Given the description of an element on the screen output the (x, y) to click on. 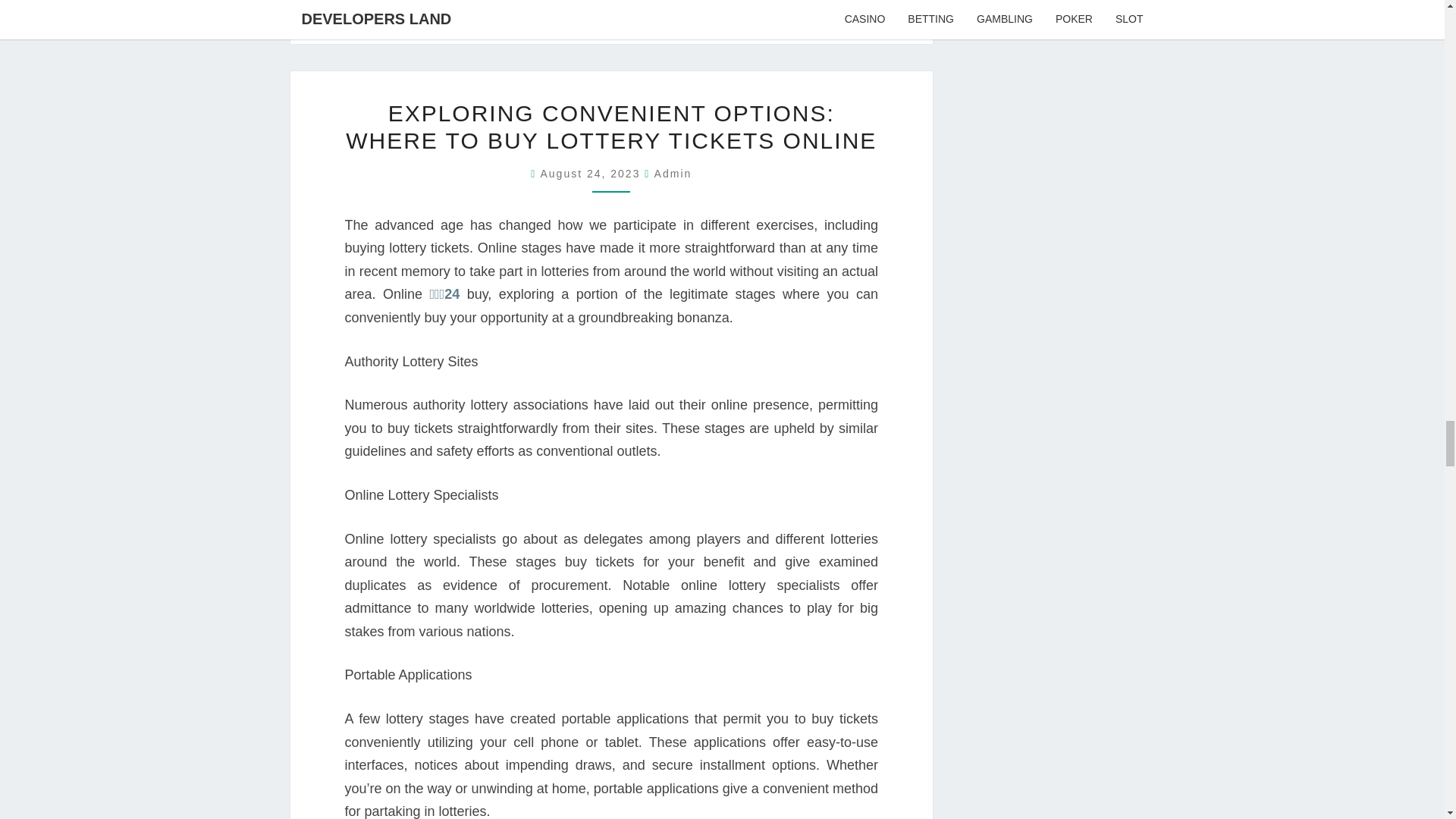
10:29 am (592, 173)
August 24, 2023 (592, 173)
View all posts by admin (673, 173)
Admin (673, 173)
